Given the description of an element on the screen output the (x, y) to click on. 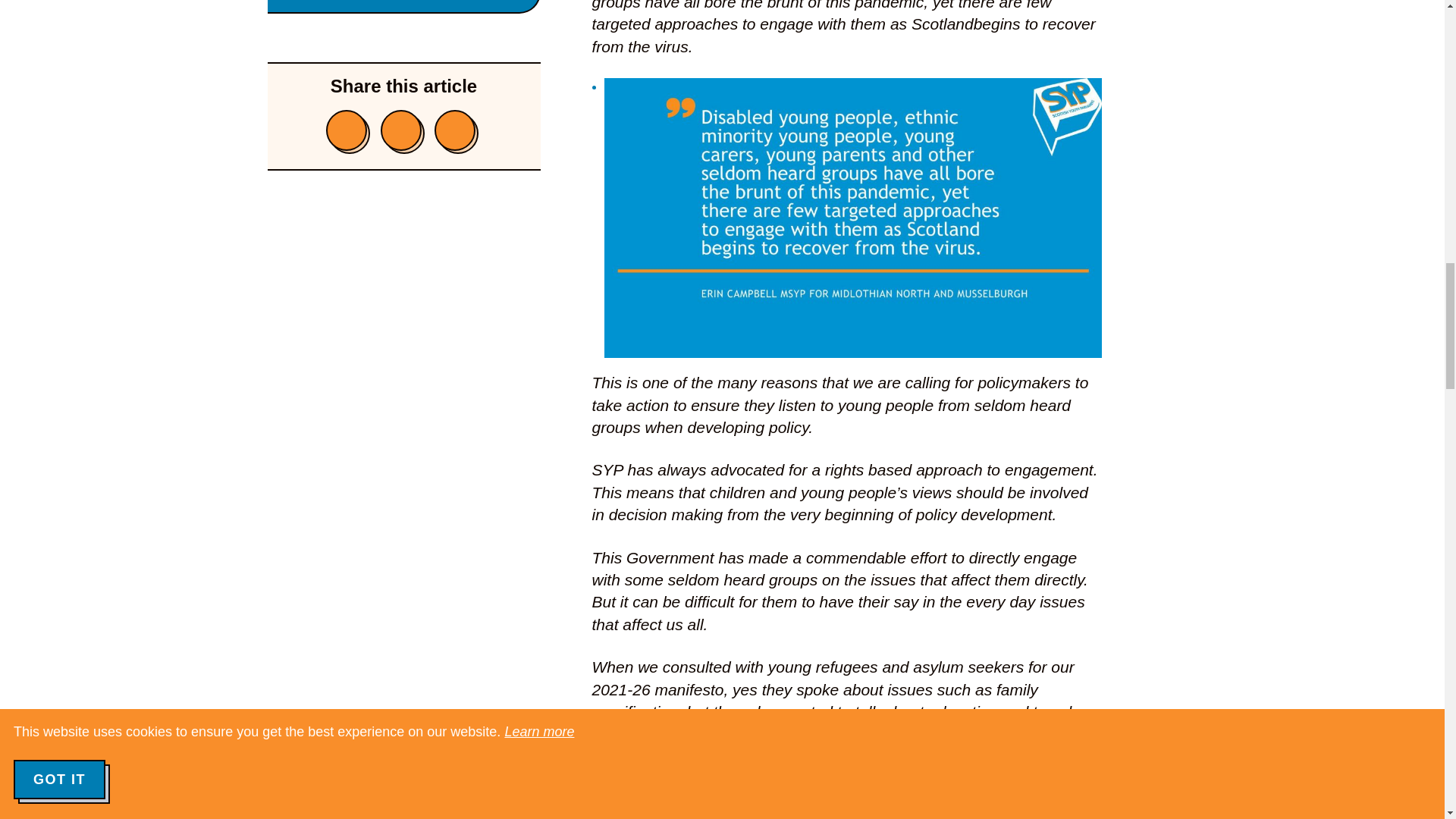
twitter (401, 129)
linkedin (454, 129)
facebook (346, 129)
